Given the description of an element on the screen output the (x, y) to click on. 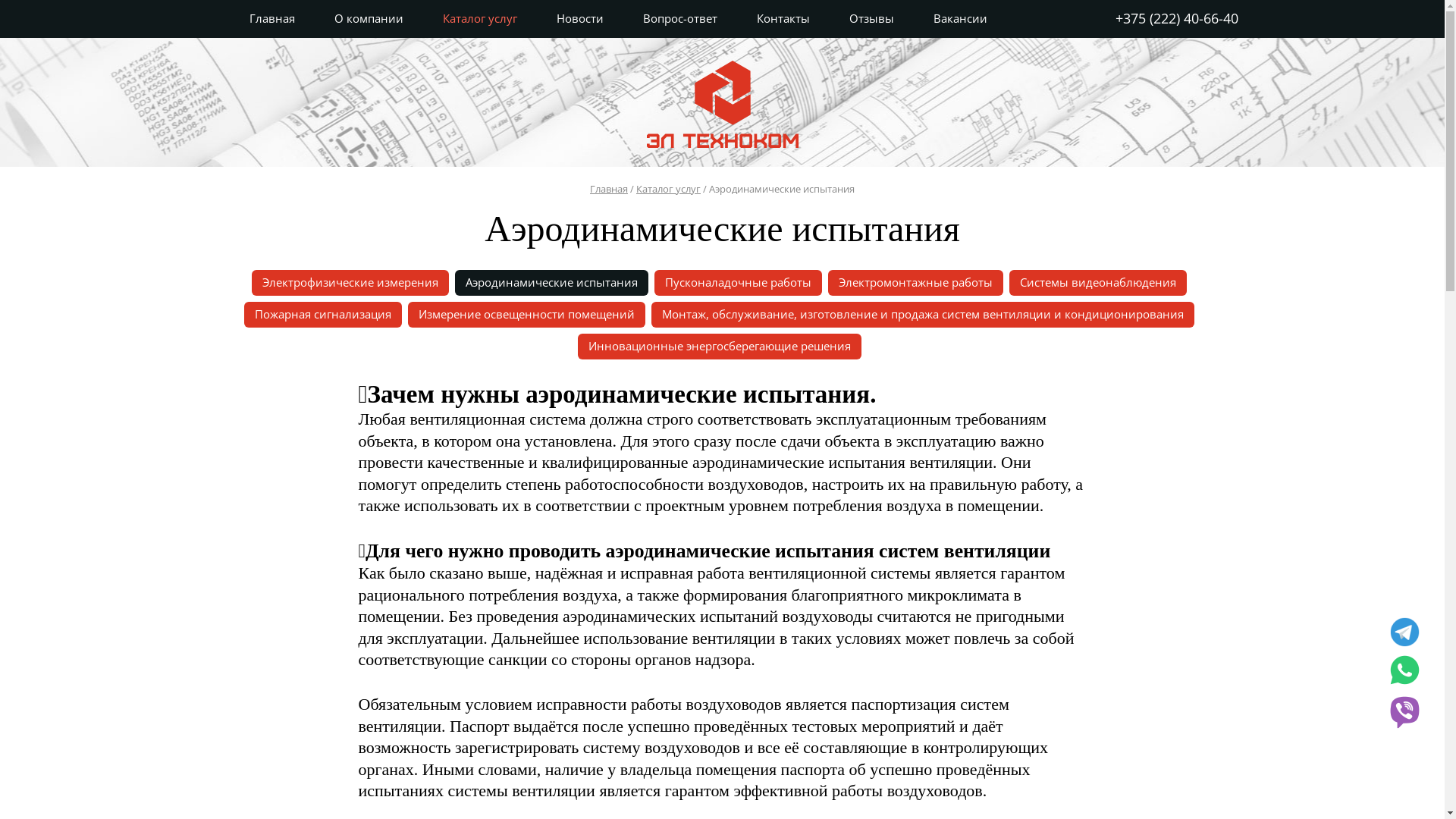
+375 (222) 40-66-40 Element type: text (1175, 18)
